Given the description of an element on the screen output the (x, y) to click on. 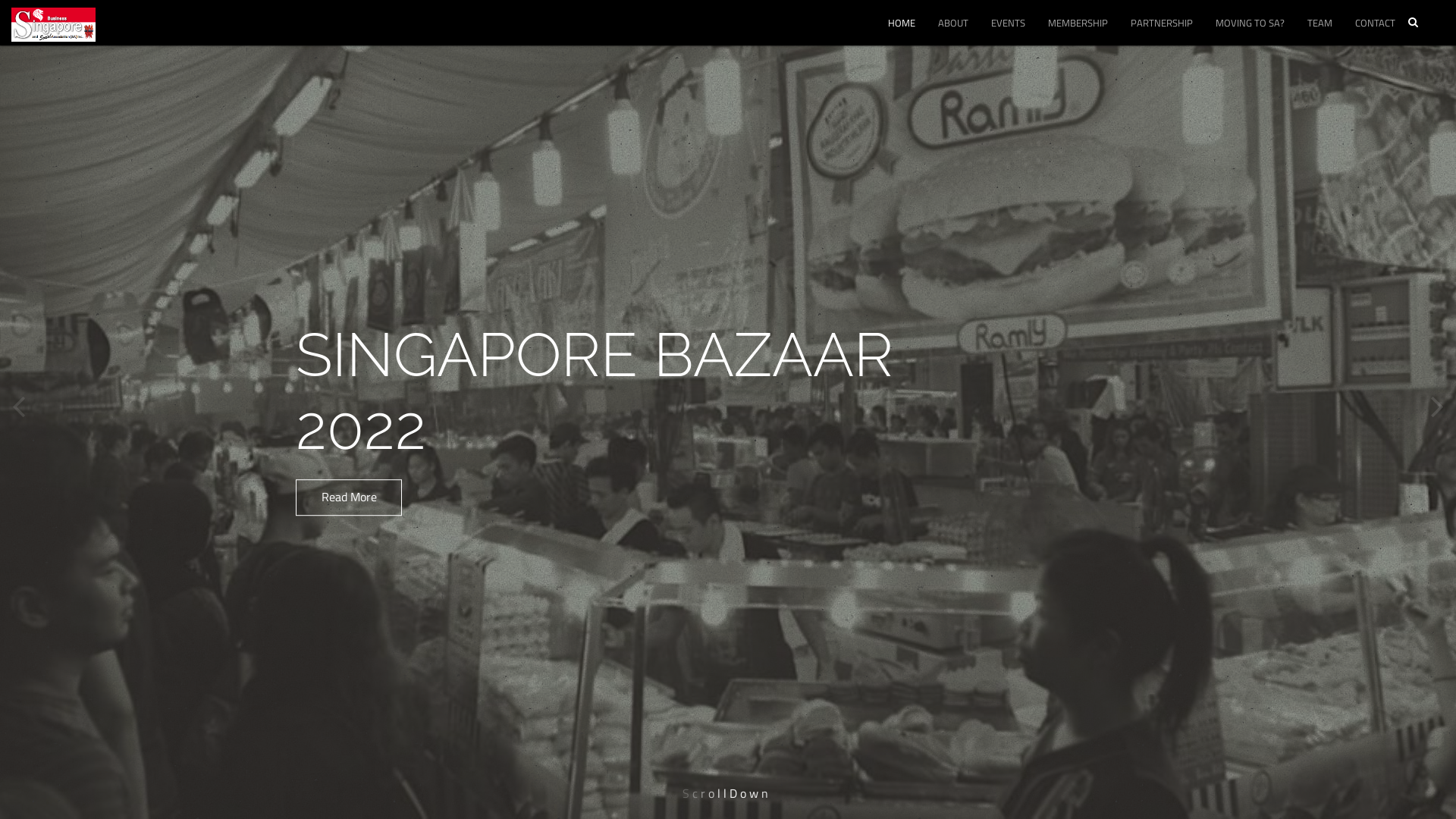
ABOUT Element type: text (952, 23)
Buying or renting Element type: text (334, 630)
SINGAPORE BUSINESS AND SOCIAL ASSOCIATION Element type: text (752, 288)
Make a living Element type: text (323, 599)
Membership Categories and Fees Element type: text (374, 353)
About Element type: text (304, 266)
Email Element type: hover (984, 247)
MEMBERSHIP Element type: text (1077, 23)
Singapore Bazaar 2022 Element type: text (645, 236)
Moving to SA? Element type: text (326, 544)
SBSA 2021 Chinese New Year Dinner Element type: text (681, 316)
Email Element type: hover (984, 247)
Read More Element type: text (668, 513)
Application Forms Element type: text (335, 384)
Membership Element type: text (321, 328)
LATEST Element type: text (590, 288)
Educating needs Element type: text (331, 661)
Cost of living Element type: text (322, 568)
CONTACT Element type: text (1374, 23)
Welcome to Singapore Business and Social Association Element type: text (695, 276)
LATEST Element type: text (754, 313)
SINGAPORE BAZAAR 2022 Element type: text (727, 364)
SBSA 2021 CHINESE NEW YEAR DINNER Element type: text (728, 364)
Home Element type: text (304, 236)
3 Element type: text (695, 84)
SBSA 2020 CHINESE NEW YEAR DINNER Element type: text (727, 364)
WELCOME TO SINGAPORE BUSINESS AND SOCIAL ASSOCIATION Element type: text (727, 363)
SBSA 2019 YEAR END CELEBRATION BBQ Element type: text (727, 364)
EVENTS Element type: text (727, 313)
PARTNERSHIP Element type: text (1161, 23)
Facebook Element type: hover (902, 247)
Online FY2021/22 Membership Renewal Form Element type: text (409, 476)
ANZ Bank Element type: hover (937, 435)
8 Element type: text (747, 84)
Read More Element type: text (348, 569)
TEAM Element type: text (1319, 23)
Partnership Element type: text (319, 513)
SBSA 2020 Chinese New Year Dinner Element type: text (681, 347)
Singapore Business and Social Association (SA) Inc. Element type: hover (53, 34)
Read More Element type: text (668, 487)
EVENTS Element type: text (1007, 23)
WASBC Element type: hover (1073, 472)
Online New Corporate Membership Application Element type: text (410, 414)
WELCOME TO SINGAPORE BUSINESS AND SOCIAL ASSOCIATION Element type: text (620, 391)
EVENTS Element type: text (703, 313)
Events Element type: text (307, 297)
HOME Element type: text (901, 23)
2 Element type: text (669, 84)
SBSA 2019 Year End Celebration BBQ Element type: text (683, 379)
Team Element type: text (302, 698)
Contact Element type: text (309, 728)
Twitter Element type: hover (943, 247)
Online New General Membership Application Element type: text (404, 445)
Facebook Element type: hover (901, 247)
MOVING TO SA? Element type: text (1249, 23)
Twitter Element type: hover (943, 247)
